Given the description of an element on the screen output the (x, y) to click on. 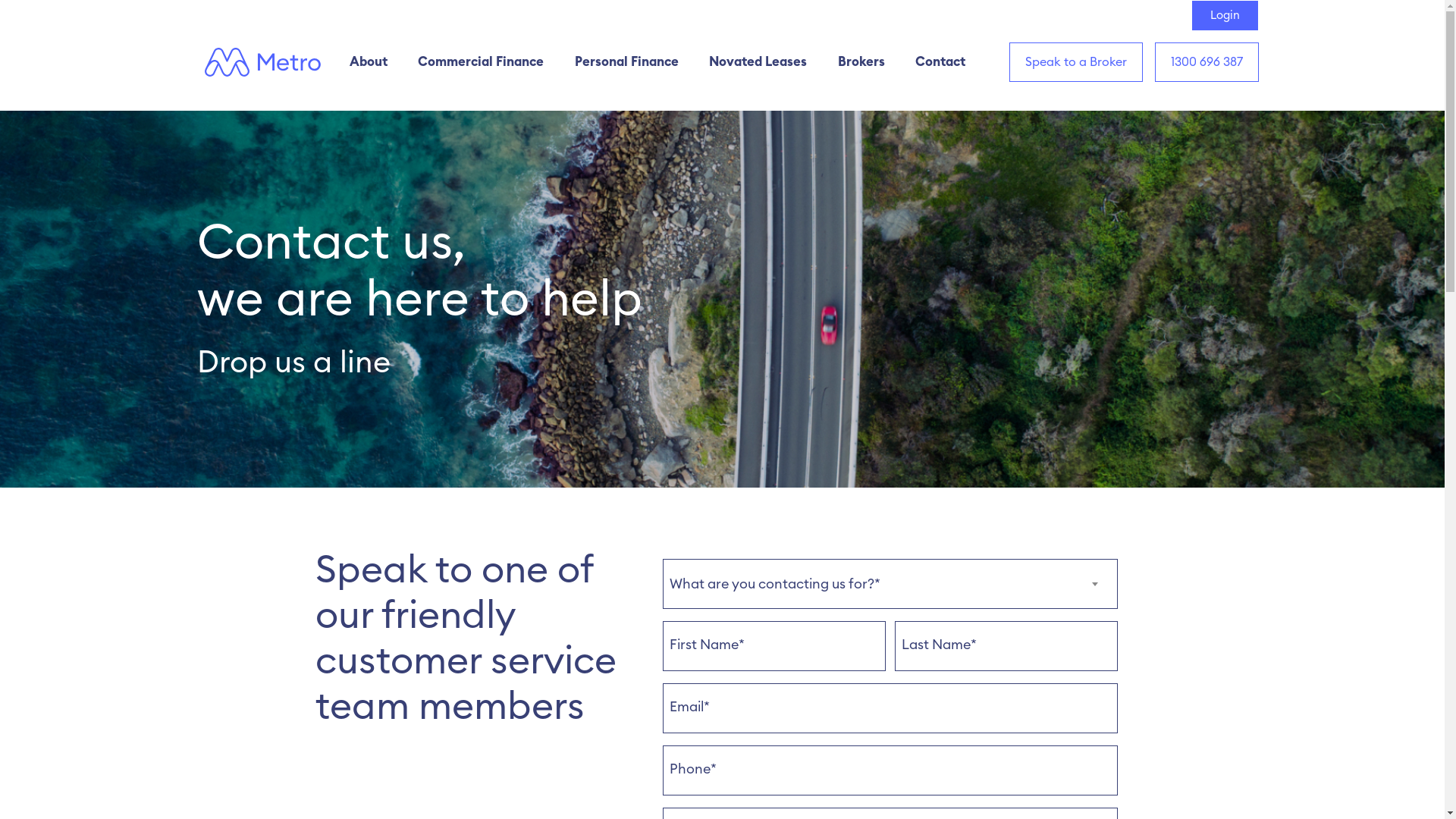
Login Element type: text (1224, 15)
About Element type: text (370, 62)
Personal Finance Element type: text (628, 62)
Commercial Finance Element type: text (482, 62)
Speak to a Broker Element type: text (1075, 61)
Brokers Element type: text (862, 62)
Novated Leases Element type: text (759, 62)
Contact Element type: text (940, 61)
1300 696 387 Element type: text (1206, 61)
